Given the description of an element on the screen output the (x, y) to click on. 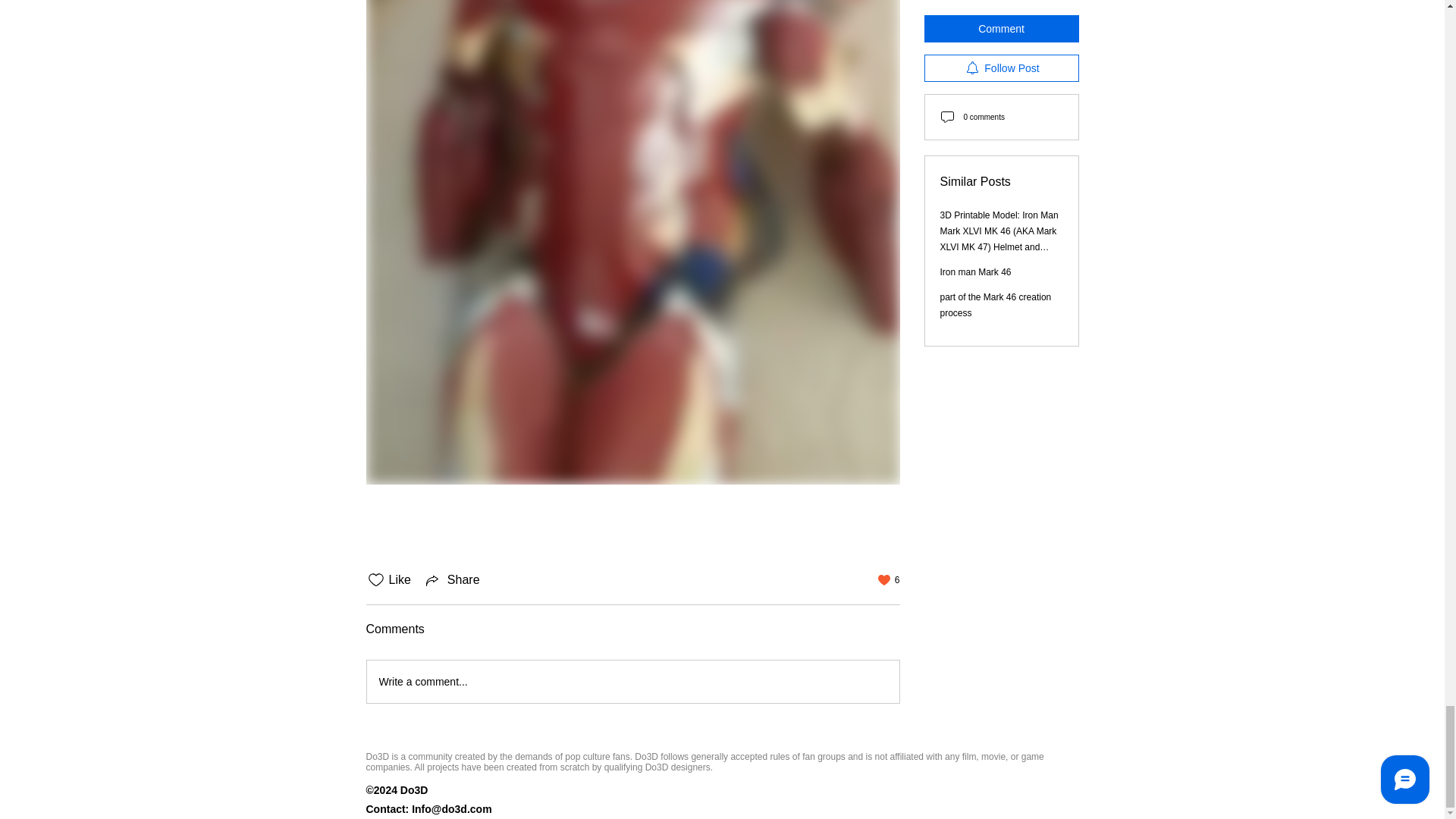
Share (451, 579)
6 (888, 580)
Write a comment... (632, 681)
